Given the description of an element on the screen output the (x, y) to click on. 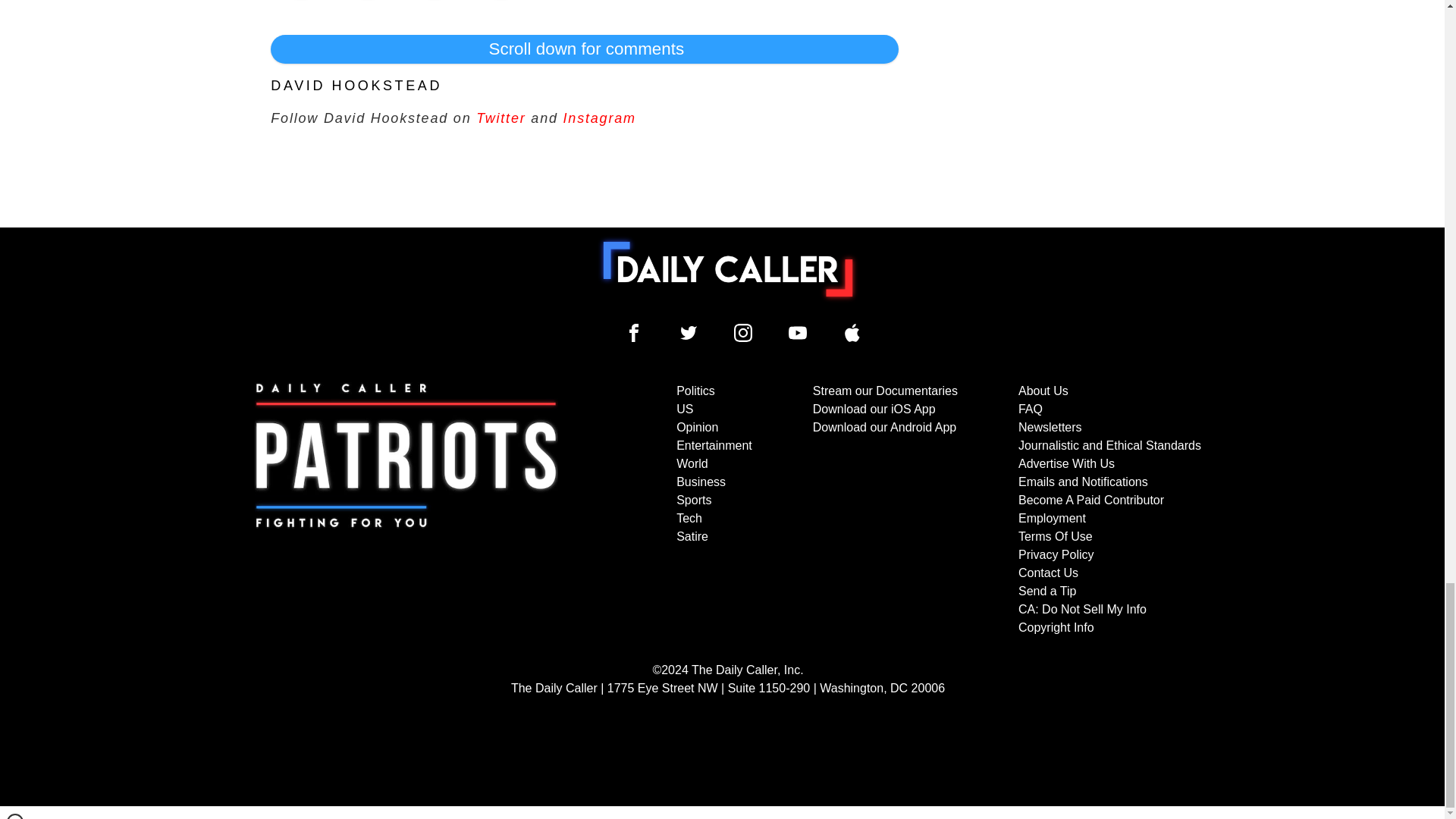
Daily Caller Facebook (633, 332)
Daily Caller Instagram (742, 332)
Daily Caller YouTube (852, 332)
To home page (727, 268)
Scroll down for comments (584, 49)
Daily Caller Twitter (688, 332)
Subscribe to The Daily Caller (405, 509)
Daily Caller YouTube (797, 332)
